Given the description of an element on the screen output the (x, y) to click on. 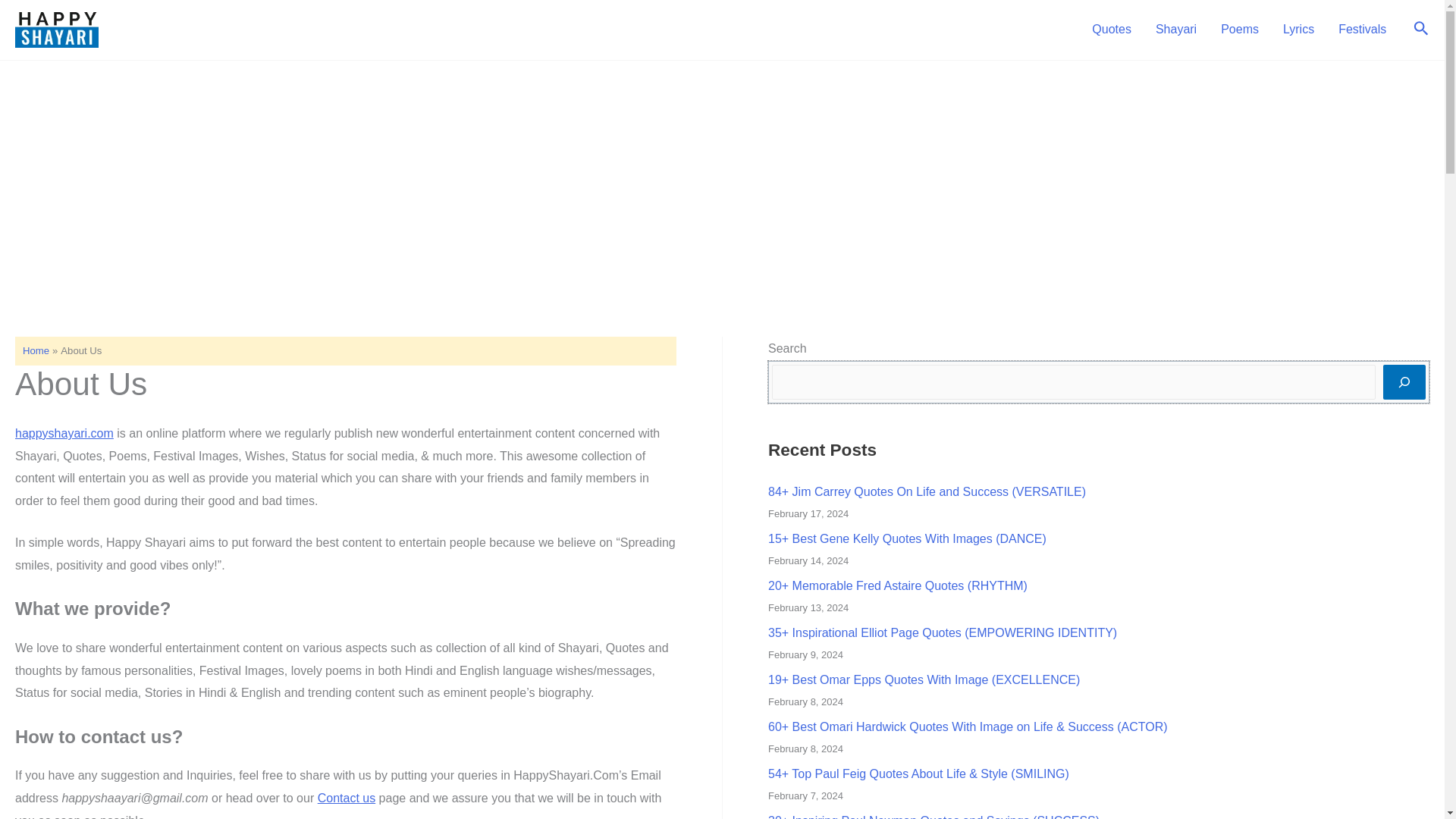
Shayari (1175, 29)
Poems (1239, 29)
Quotes (1111, 29)
Contact us (346, 797)
happyshayari.com (63, 432)
Lyrics (1298, 29)
Home (36, 350)
Festivals (1361, 29)
